Given the description of an element on the screen output the (x, y) to click on. 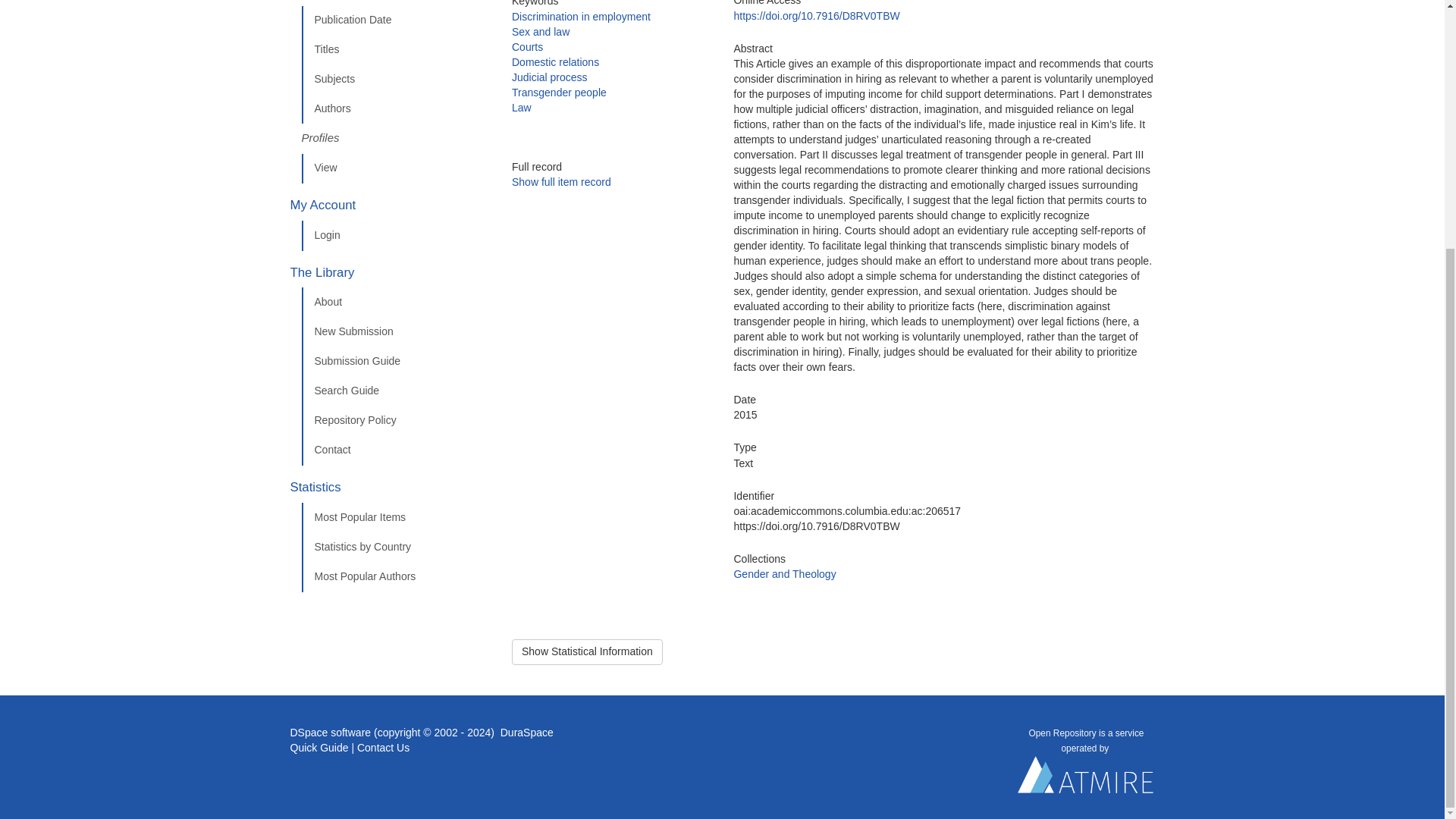
This Collection (395, 2)
Atmire NV (1085, 778)
